Given the description of an element on the screen output the (x, y) to click on. 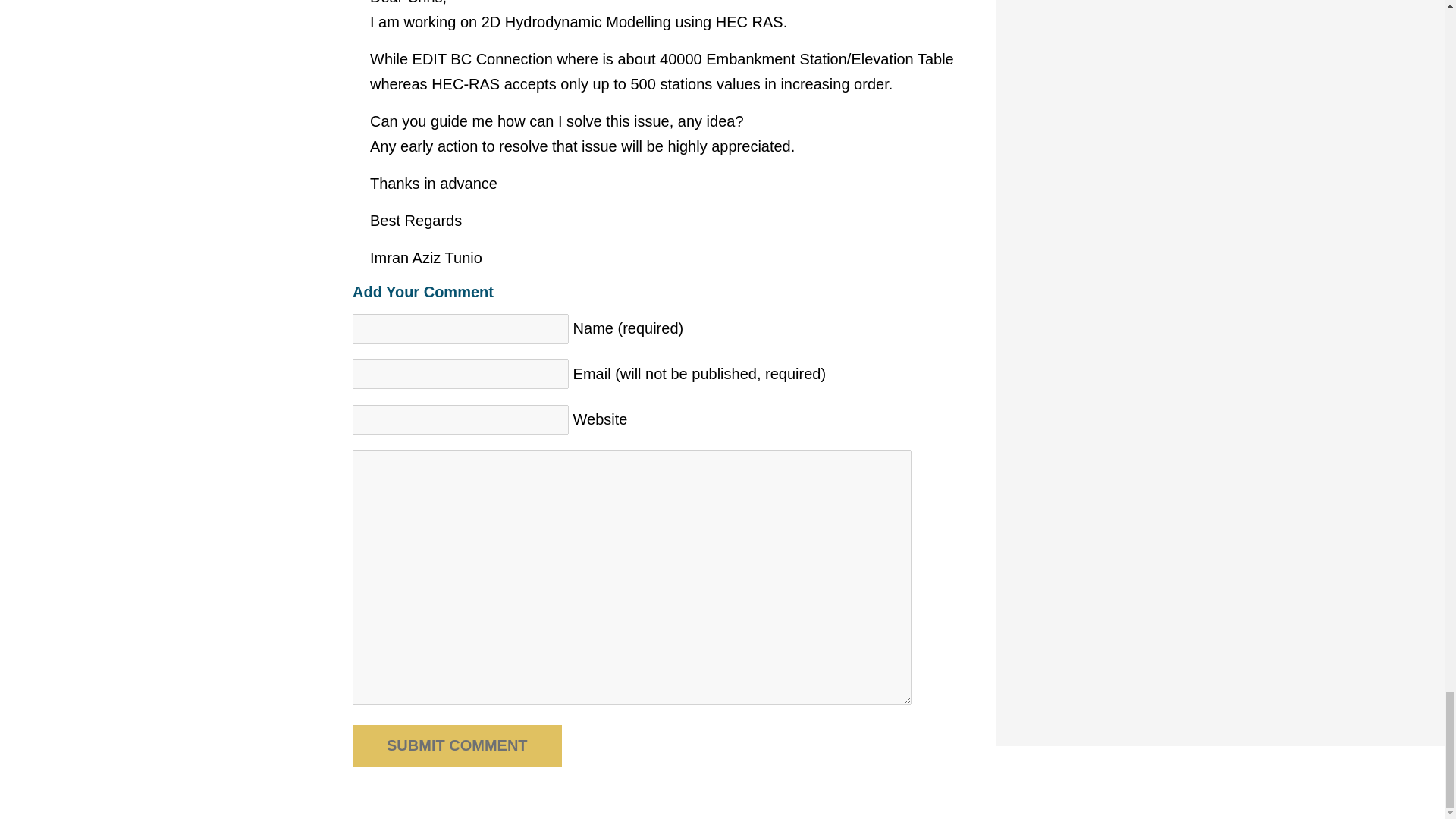
Submit Comment (457, 745)
Submit Comment (457, 745)
